Given the description of an element on the screen output the (x, y) to click on. 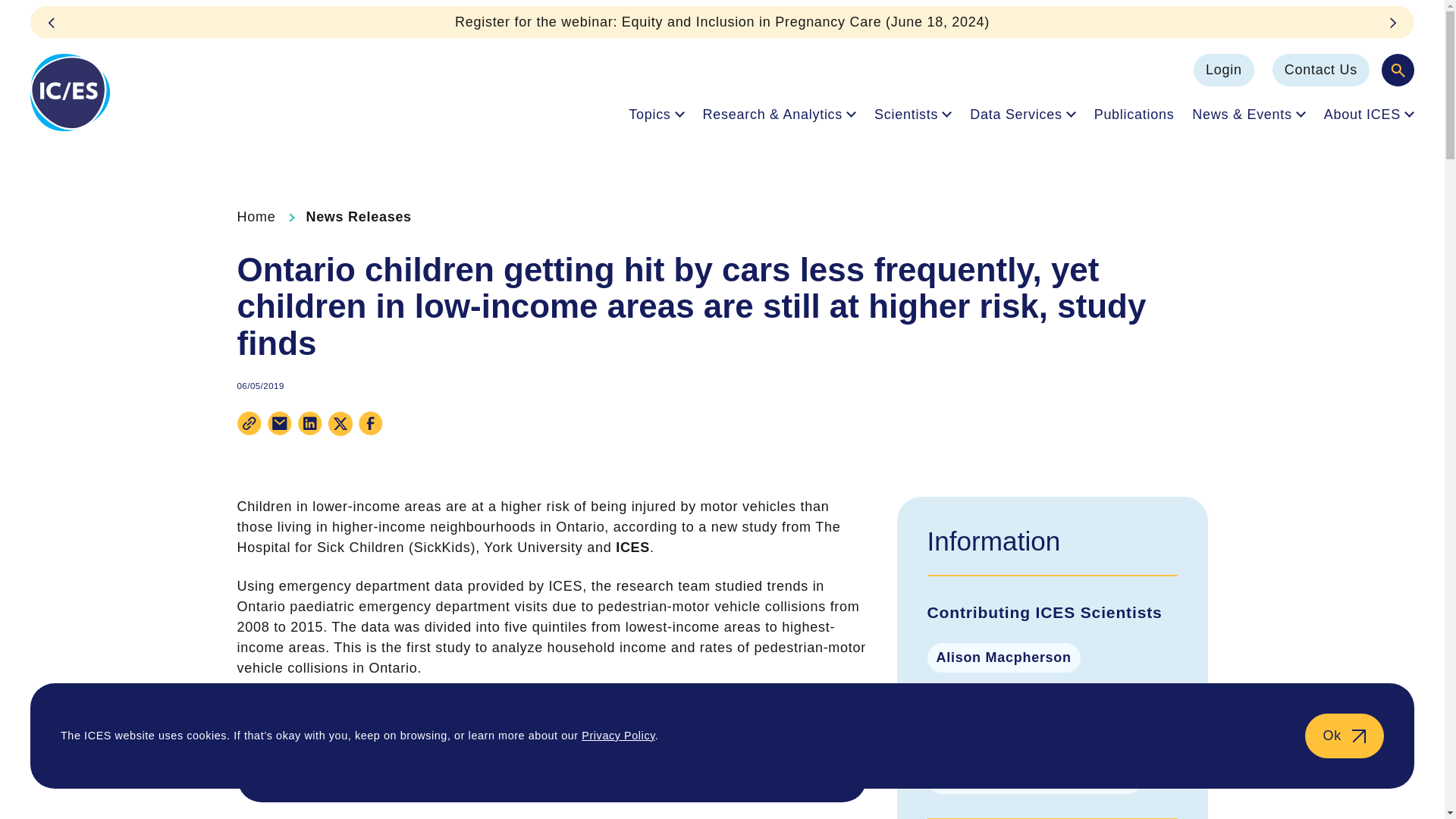
Alison Macpherson (1003, 657)
Share on LinkedIn (309, 422)
Copy to clipboard (247, 422)
Login (1223, 70)
Topics (656, 114)
Share on Facebook (369, 422)
Share via Email (278, 422)
ICES (70, 92)
Contact Us (1321, 70)
